Given the description of an element on the screen output the (x, y) to click on. 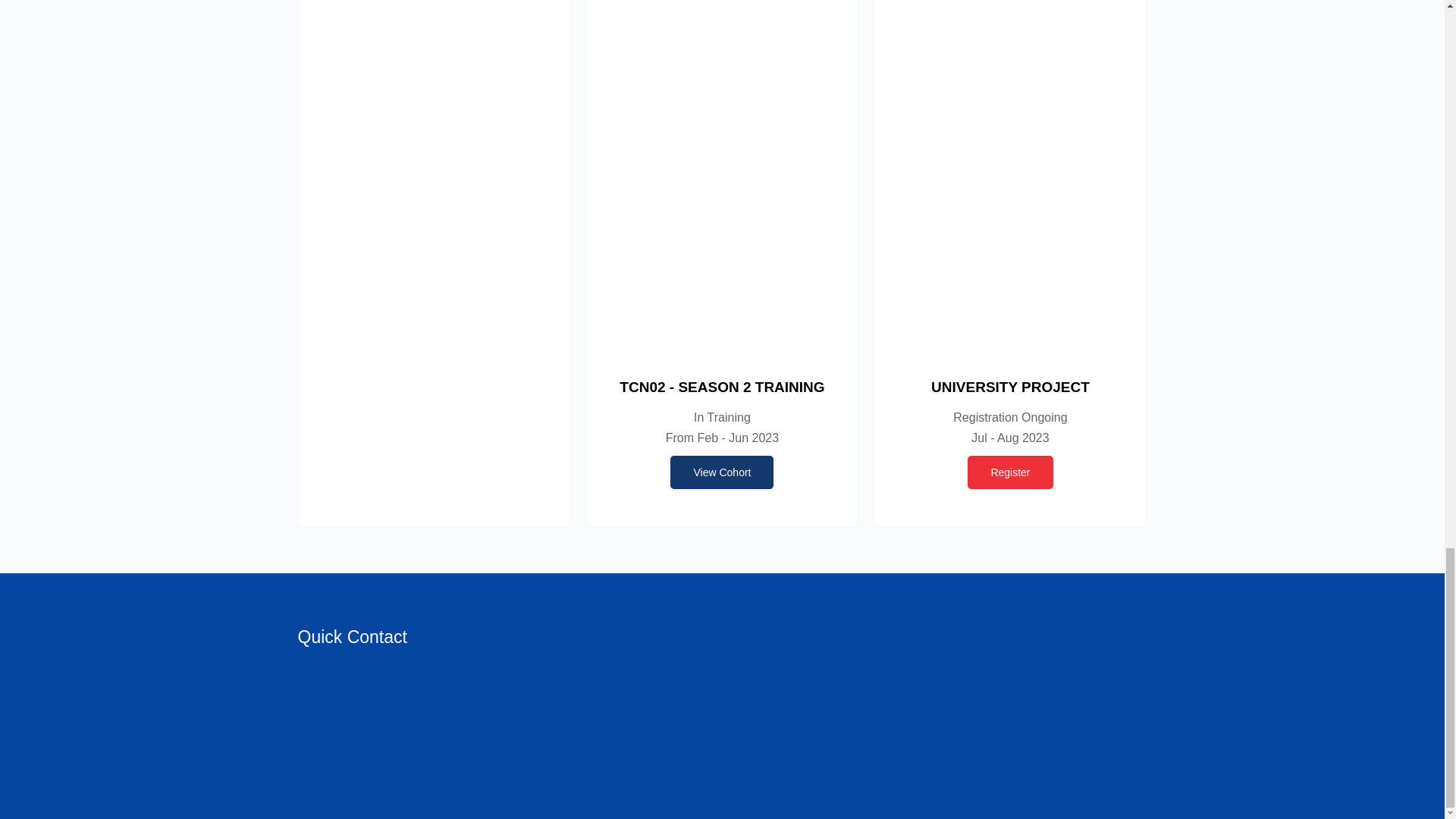
View Cohort (721, 471)
Register (1010, 471)
